Given the description of an element on the screen output the (x, y) to click on. 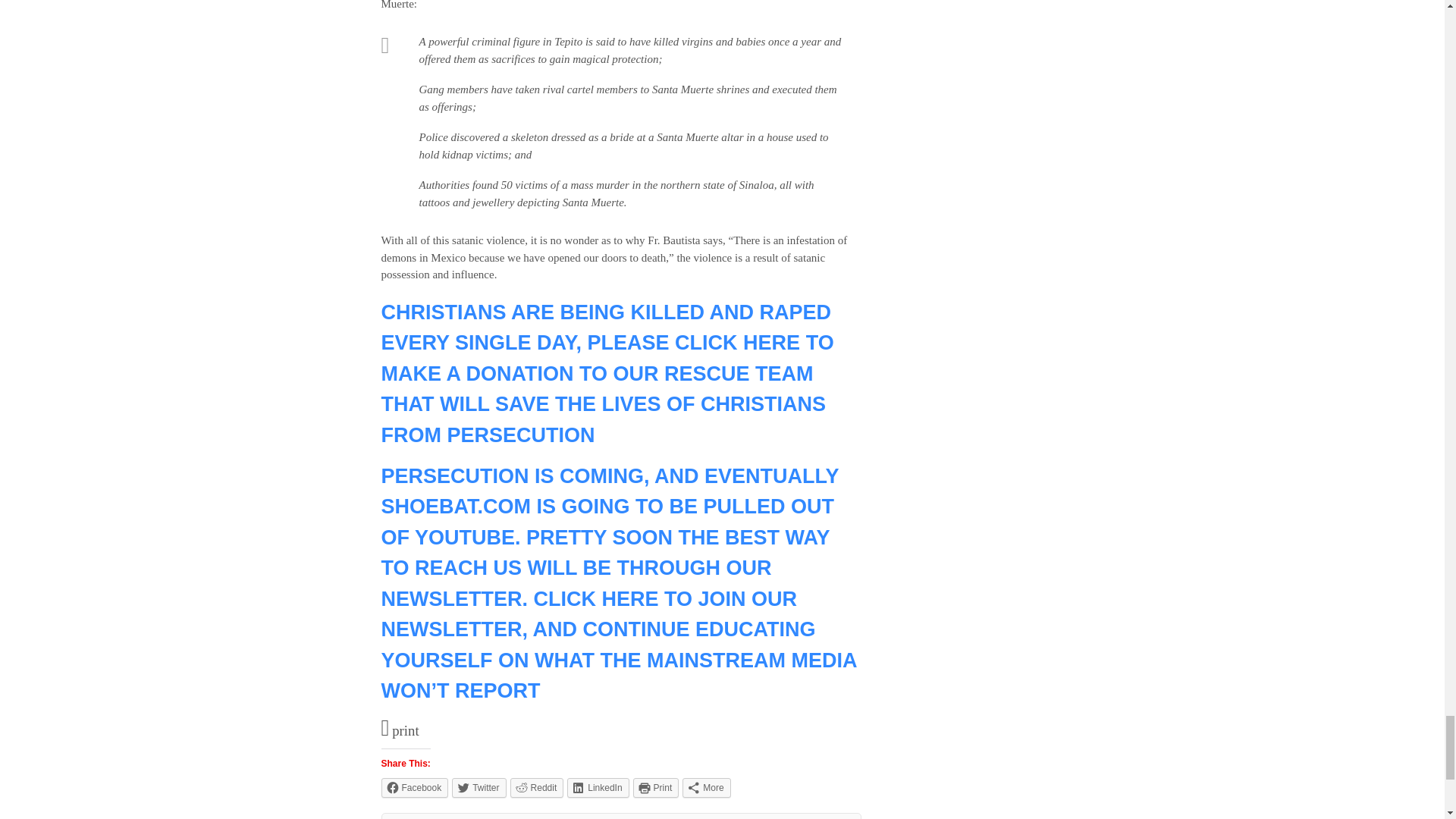
Click to share on Reddit (537, 787)
Click to share on LinkedIn (597, 787)
Click to share on Facebook (414, 787)
Click to print (656, 787)
Click to share on Twitter (478, 787)
